Given the description of an element on the screen output the (x, y) to click on. 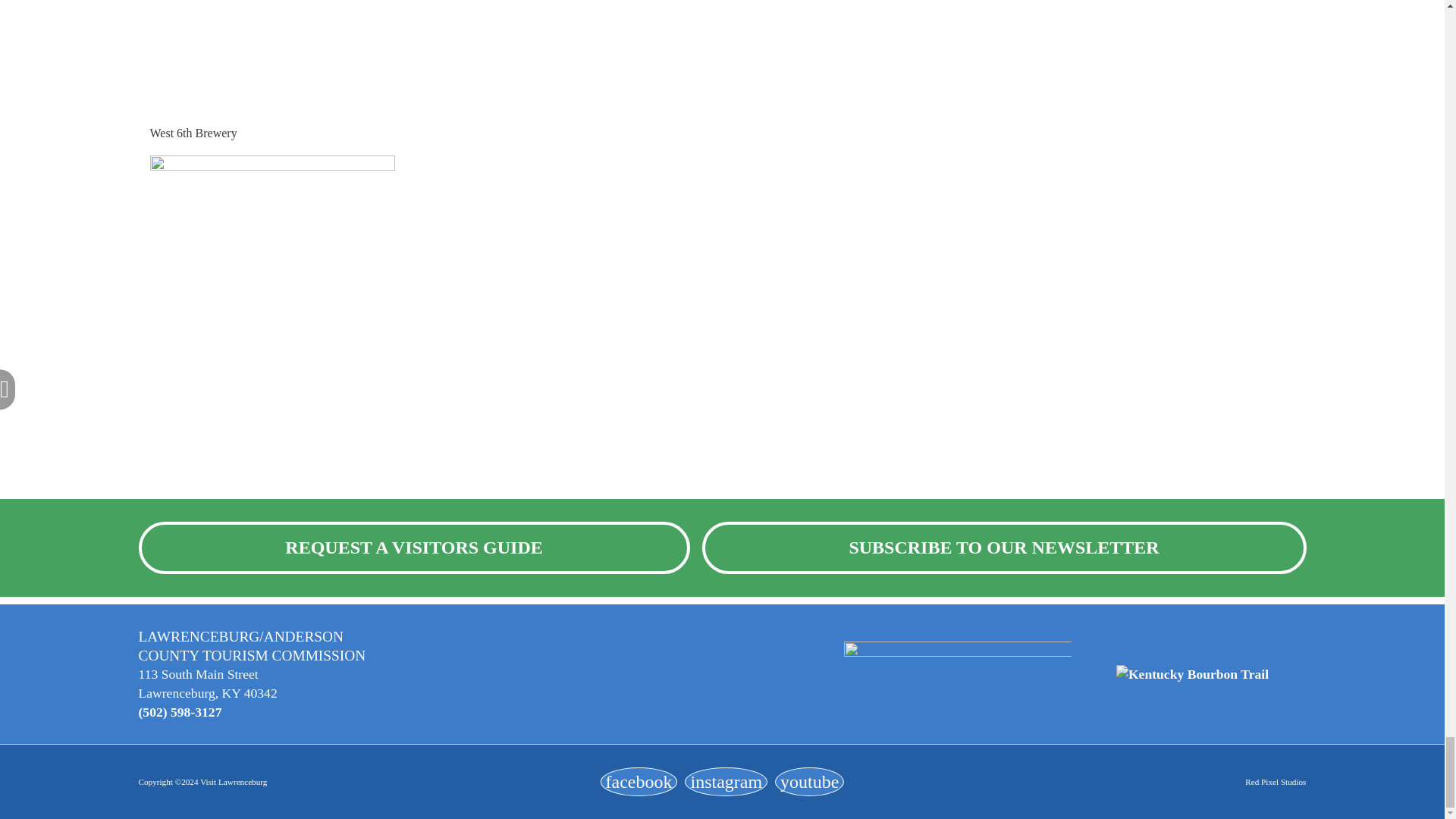
Opens in a new tab or window (725, 781)
Opens in a new tab or window (809, 781)
Opens in a new tab or window (638, 781)
